Given the description of an element on the screen output the (x, y) to click on. 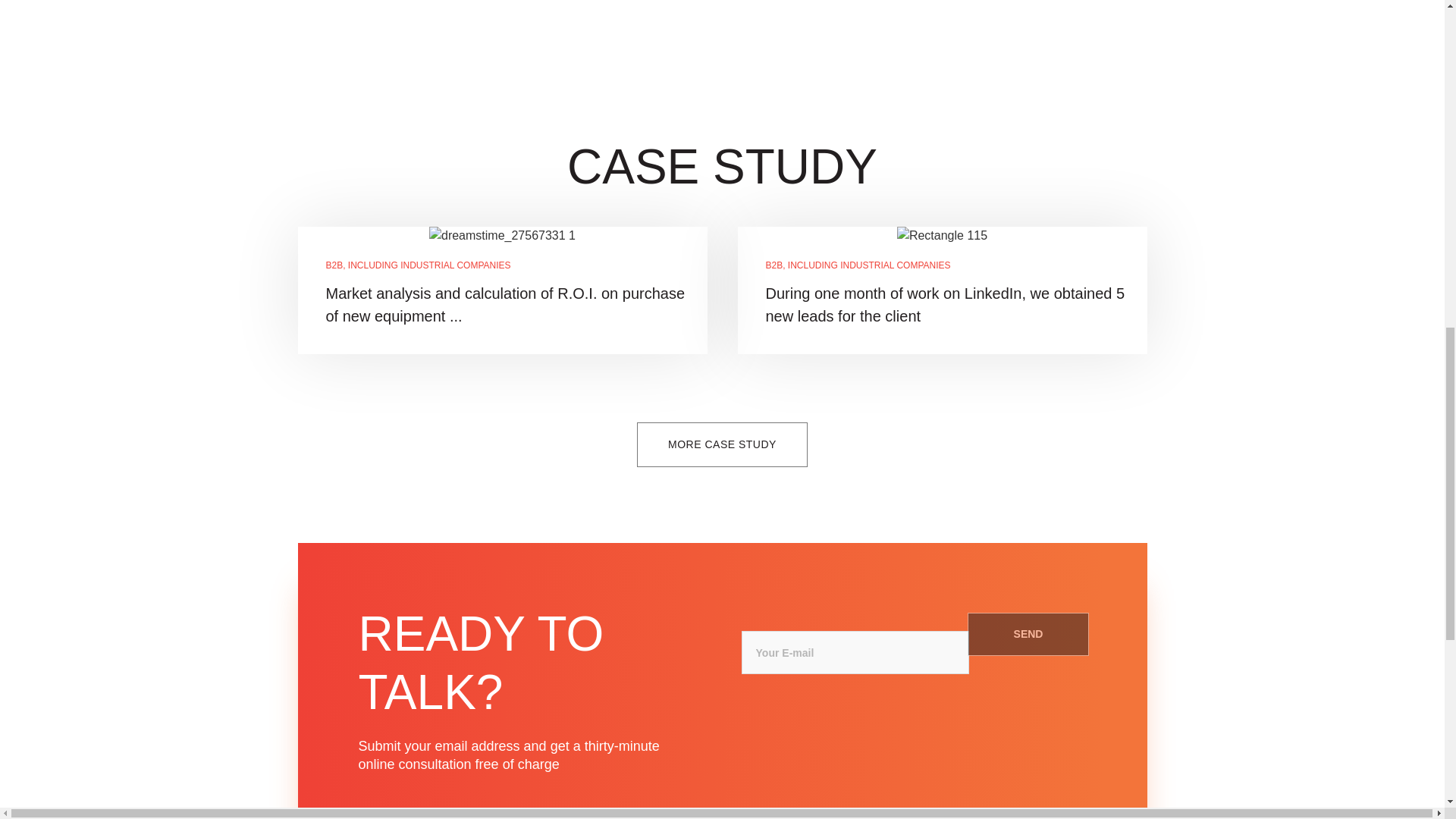
Rectangle 115 (941, 235)
SEND (1028, 634)
MORE CASE STUDY (722, 444)
